Given the description of an element on the screen output the (x, y) to click on. 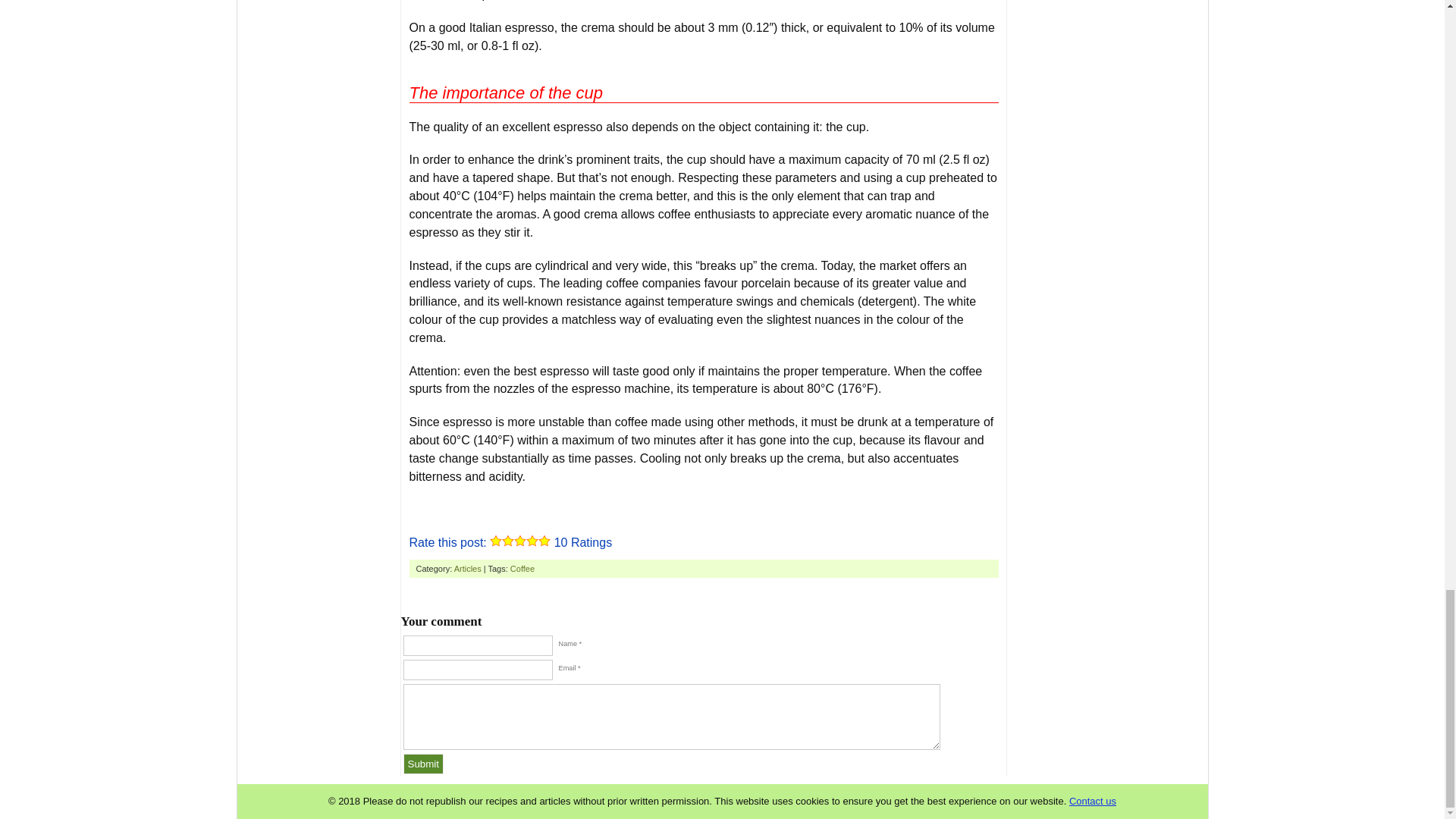
Articles (467, 568)
Submit (423, 763)
3 Stars (519, 540)
Coffee (522, 568)
5 Stars (544, 540)
2 Stars (507, 540)
4 Stars (531, 540)
1 Star (495, 540)
Submit (423, 763)
